Given the description of an element on the screen output the (x, y) to click on. 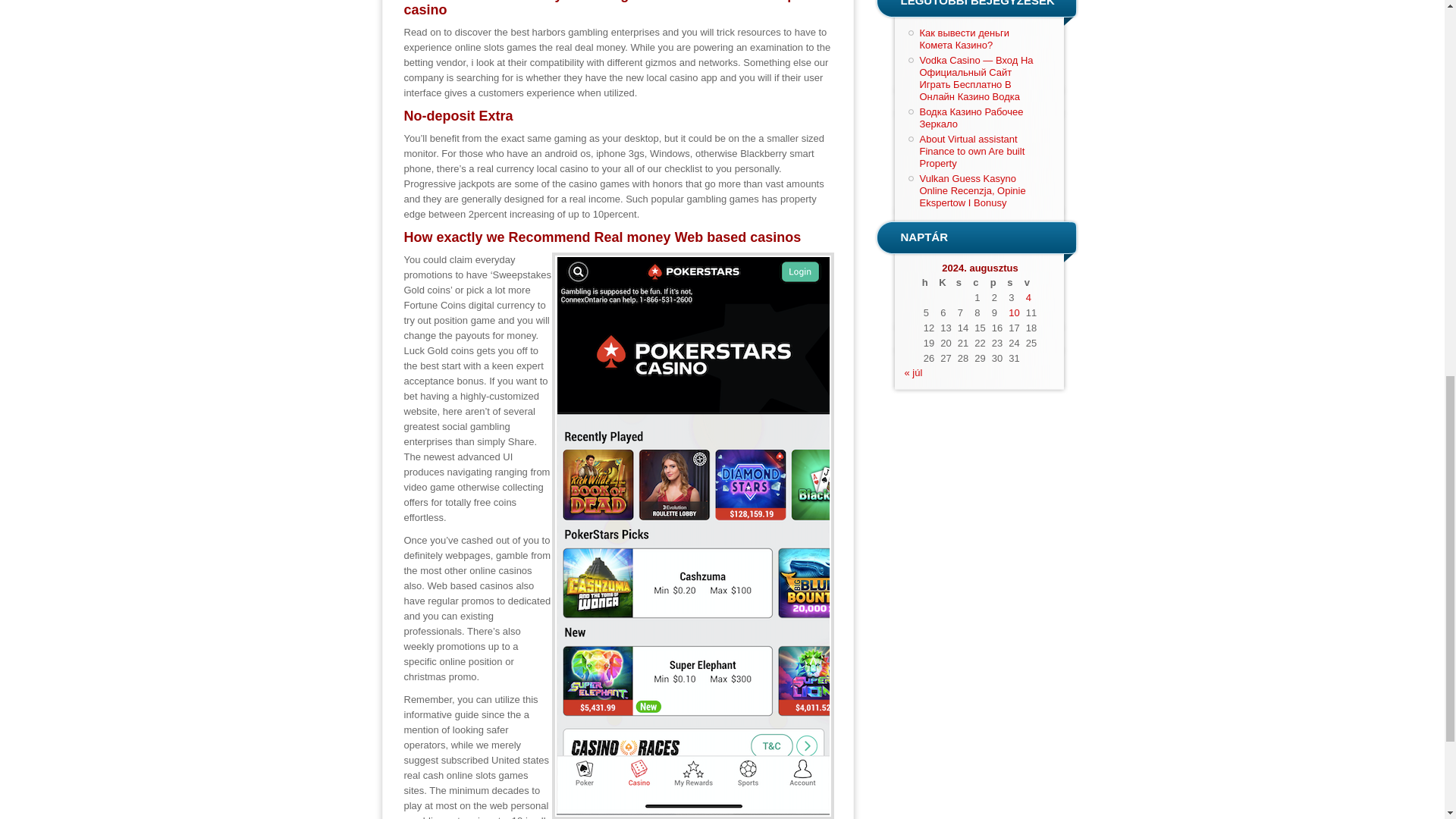
kedd (945, 282)
szerda (963, 282)
szombat (1014, 282)
